Given the description of an element on the screen output the (x, y) to click on. 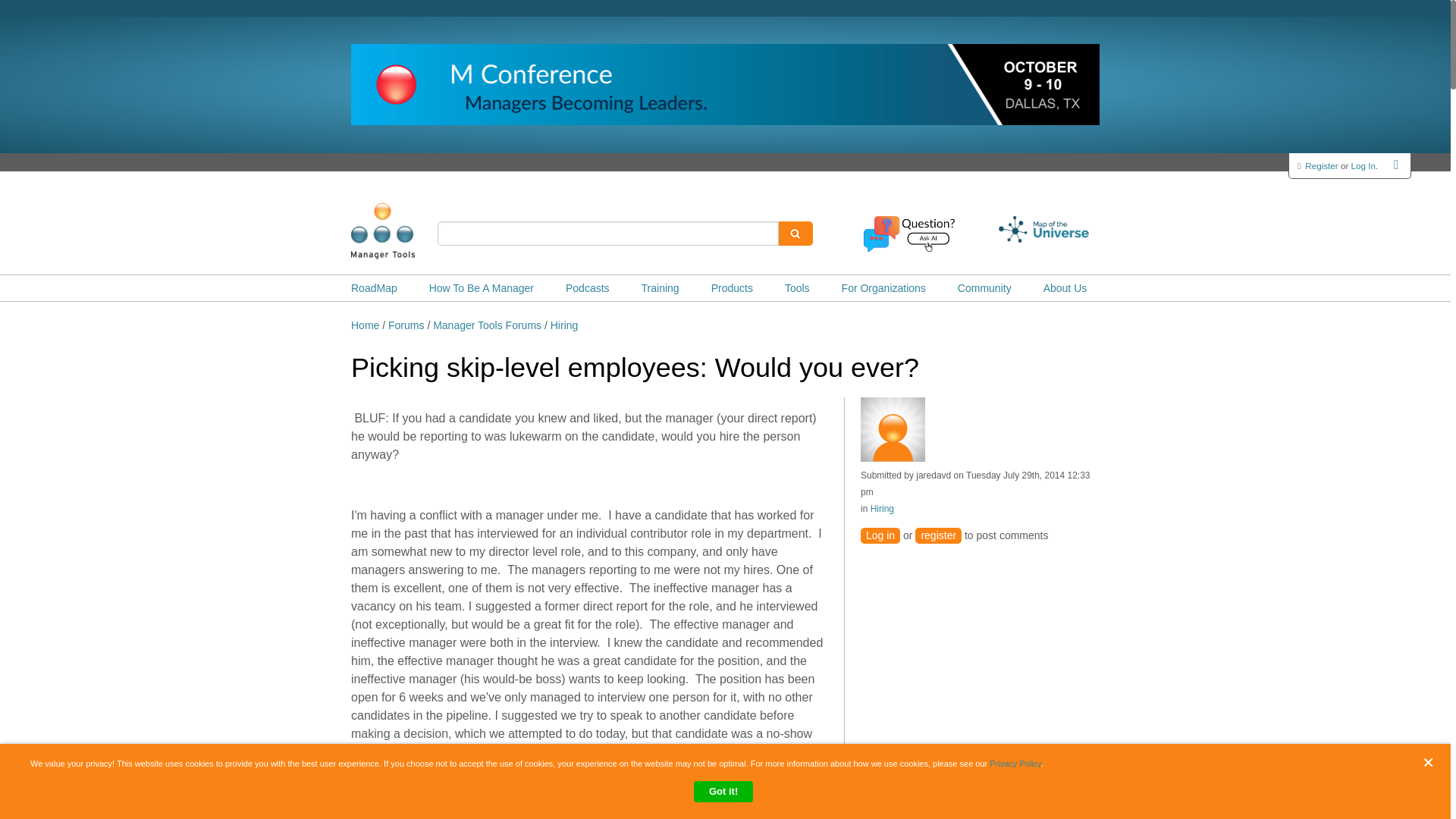
Home (406, 231)
Search (795, 233)
Podcasts (588, 288)
Enter the terms you wish to search for. (608, 233)
Search (795, 233)
Got it! (723, 791)
How To Be A Manager (481, 288)
Register (1321, 165)
About Cookie Control (37, 769)
Log In (1363, 165)
Training (660, 288)
Close (1431, 762)
About Cookie Control (37, 769)
Privacy Policy (1015, 763)
RoadMap (373, 288)
